Given the description of an element on the screen output the (x, y) to click on. 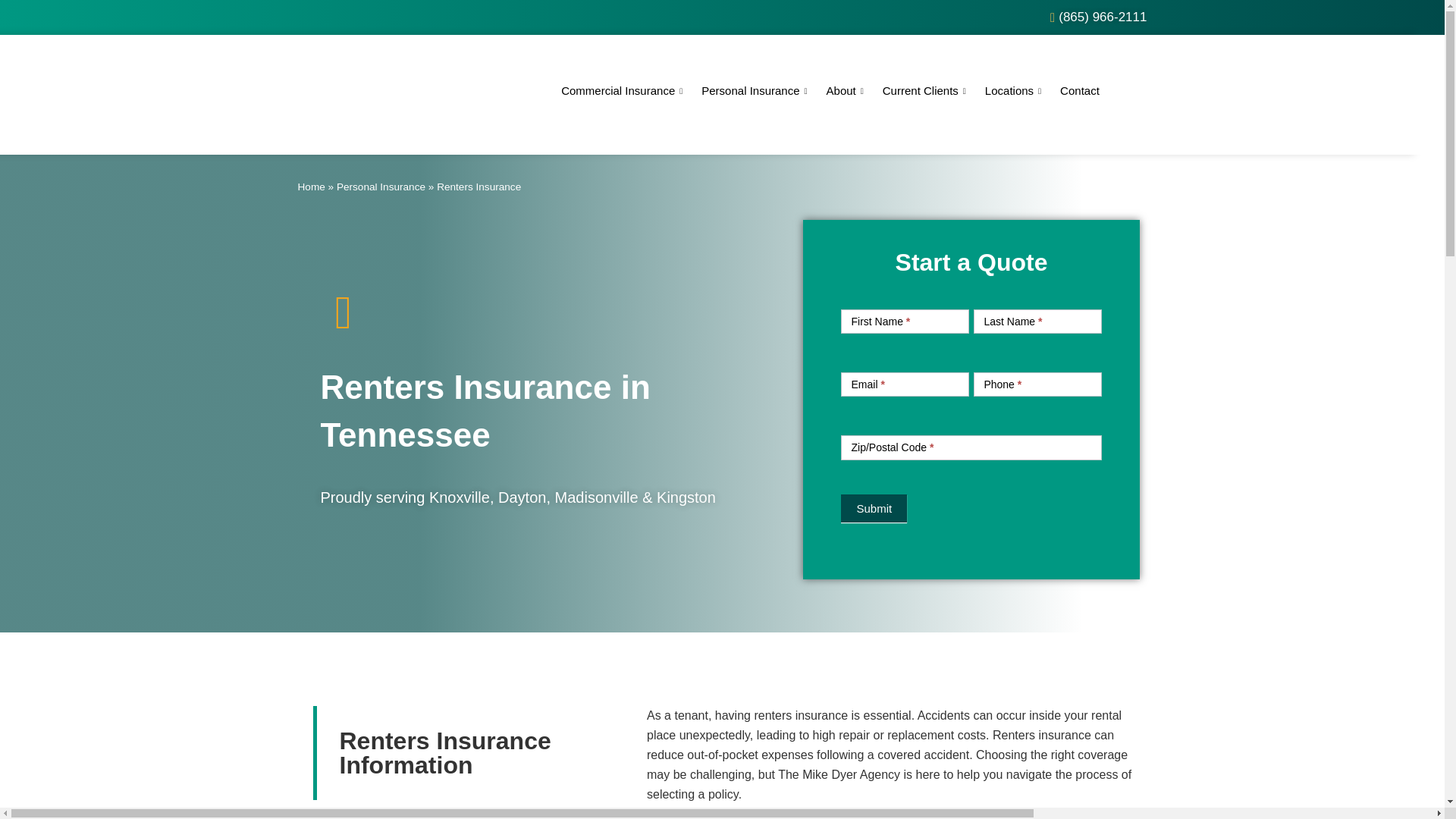
About (846, 90)
Commercial Insurance (623, 90)
Current Clients (925, 90)
Personal Insurance (756, 90)
Locations (1014, 90)
